Given the description of an element on the screen output the (x, y) to click on. 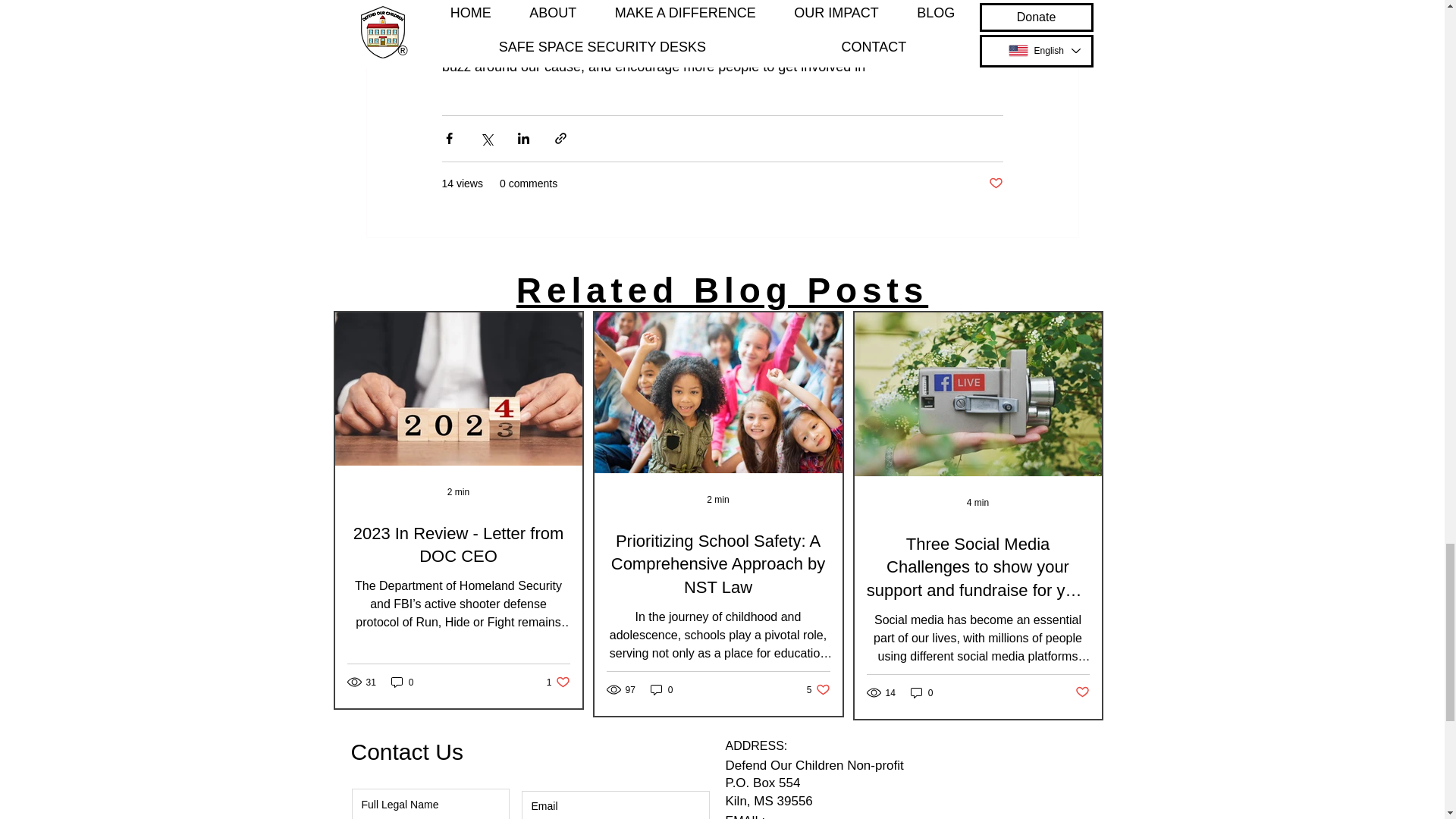
0 (662, 689)
2023 In Review - Letter from DOC CEO (558, 681)
Post not marked as liked (458, 545)
0 (817, 689)
0 (995, 183)
Related Blog Posts (402, 681)
2 min (921, 692)
4 min (722, 290)
2 min (457, 491)
